Given the description of an element on the screen output the (x, y) to click on. 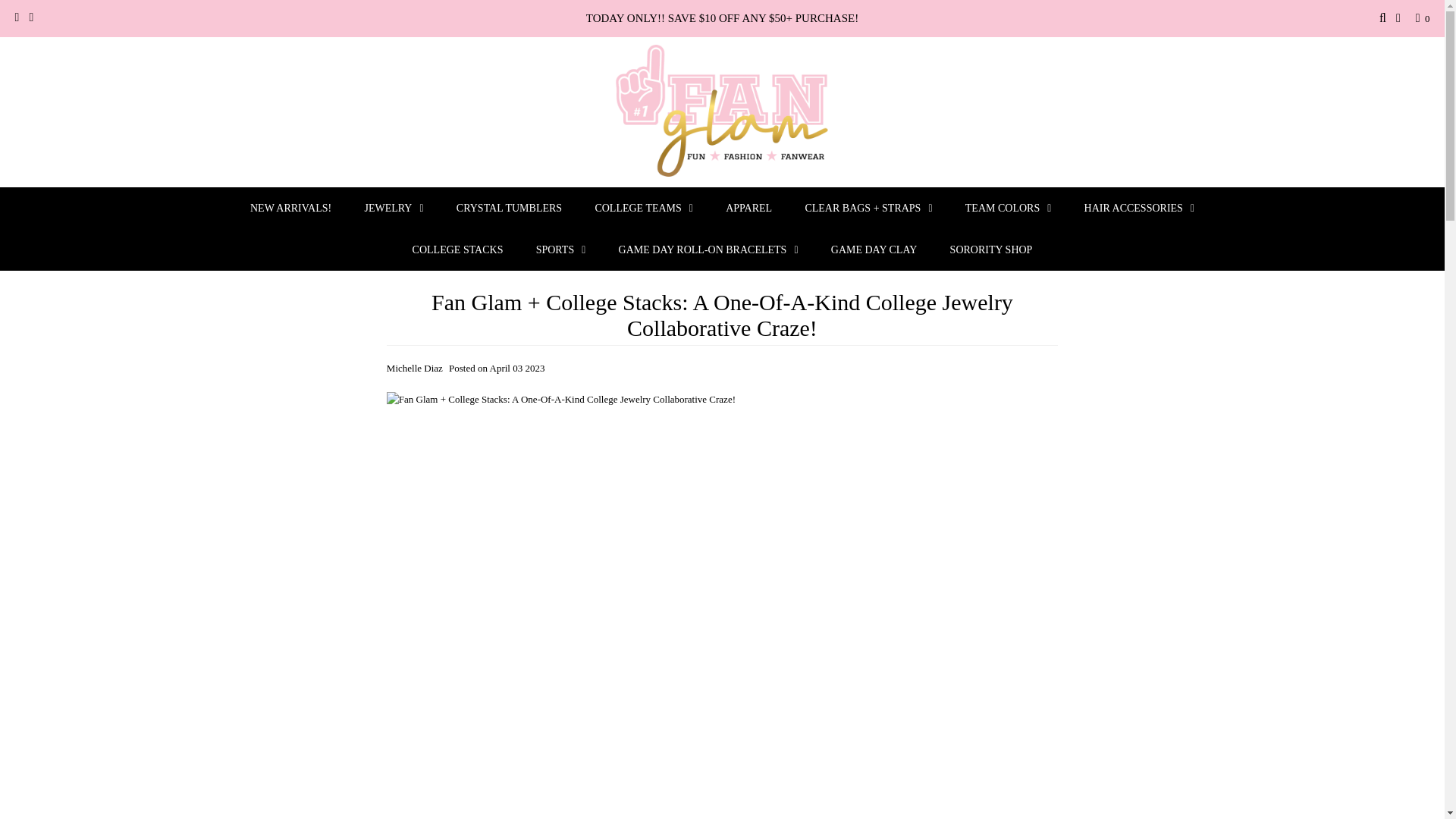
CRYSTAL TUMBLERS (508, 208)
JEWELRY (393, 208)
NEW ARRIVALS! (290, 208)
    0 (1419, 18)
COLLEGE TEAMS (643, 208)
